Given the description of an element on the screen output the (x, y) to click on. 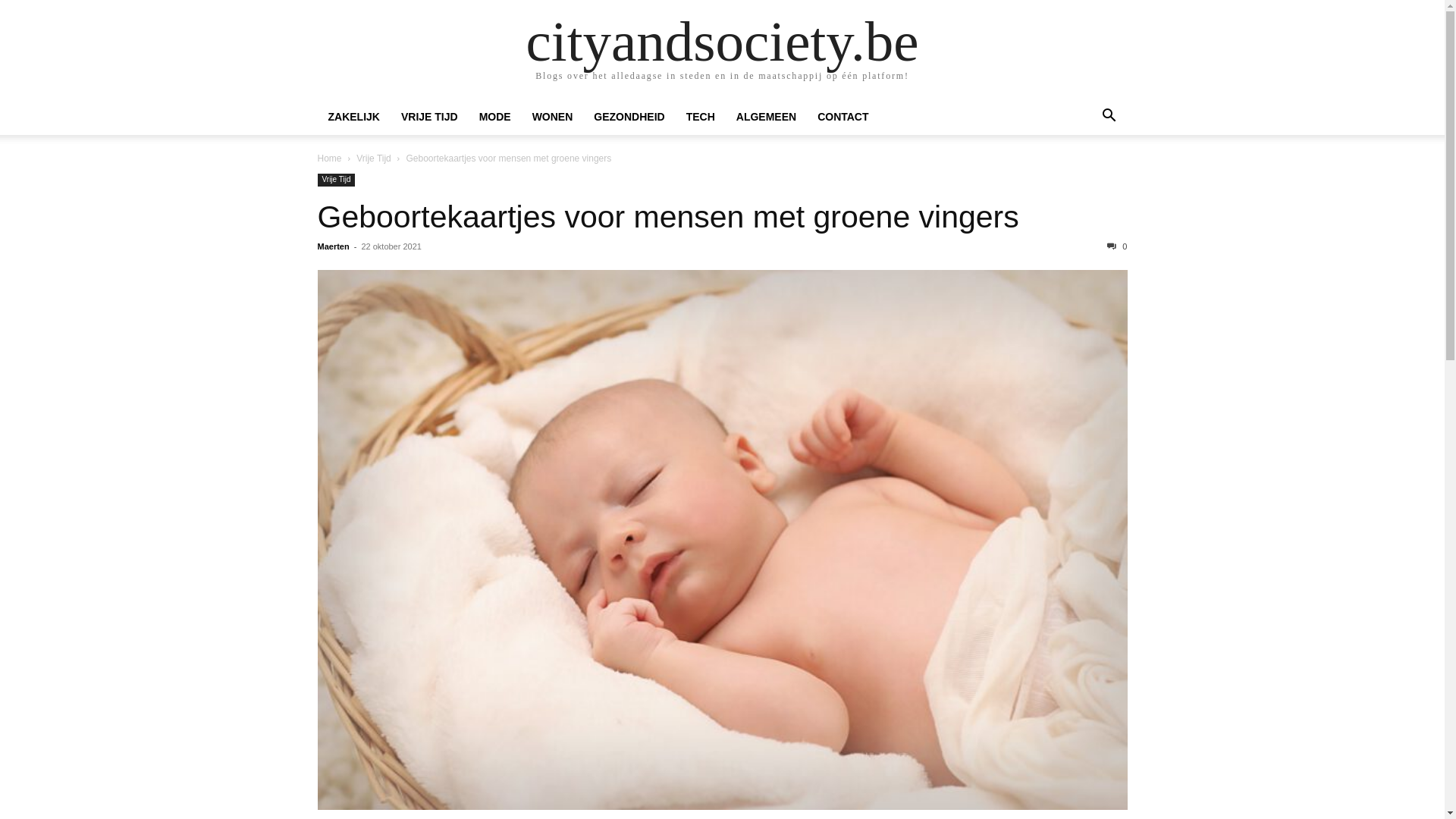
VRIJE TIJD Element type: text (429, 116)
Geboortekaartjes voor mensen met groene vingers Element type: hover (721, 539)
Maerten Element type: text (332, 246)
WONEN Element type: text (552, 116)
Vrije Tijd Element type: text (335, 179)
Vrije Tijd Element type: text (373, 158)
ALGEMEEN Element type: text (765, 116)
CONTACT Element type: text (842, 116)
GEZONDHEID Element type: text (628, 116)
0 Element type: text (1116, 246)
MODE Element type: text (494, 116)
cityandsociety.be Element type: text (722, 40)
Zoek Element type: text (1086, 177)
Geboortekaartjes voor mensen met groene vingers Element type: text (667, 216)
ZAKELIJK Element type: text (352, 116)
TECH Element type: text (700, 116)
Home Element type: text (328, 158)
